Given the description of an element on the screen output the (x, y) to click on. 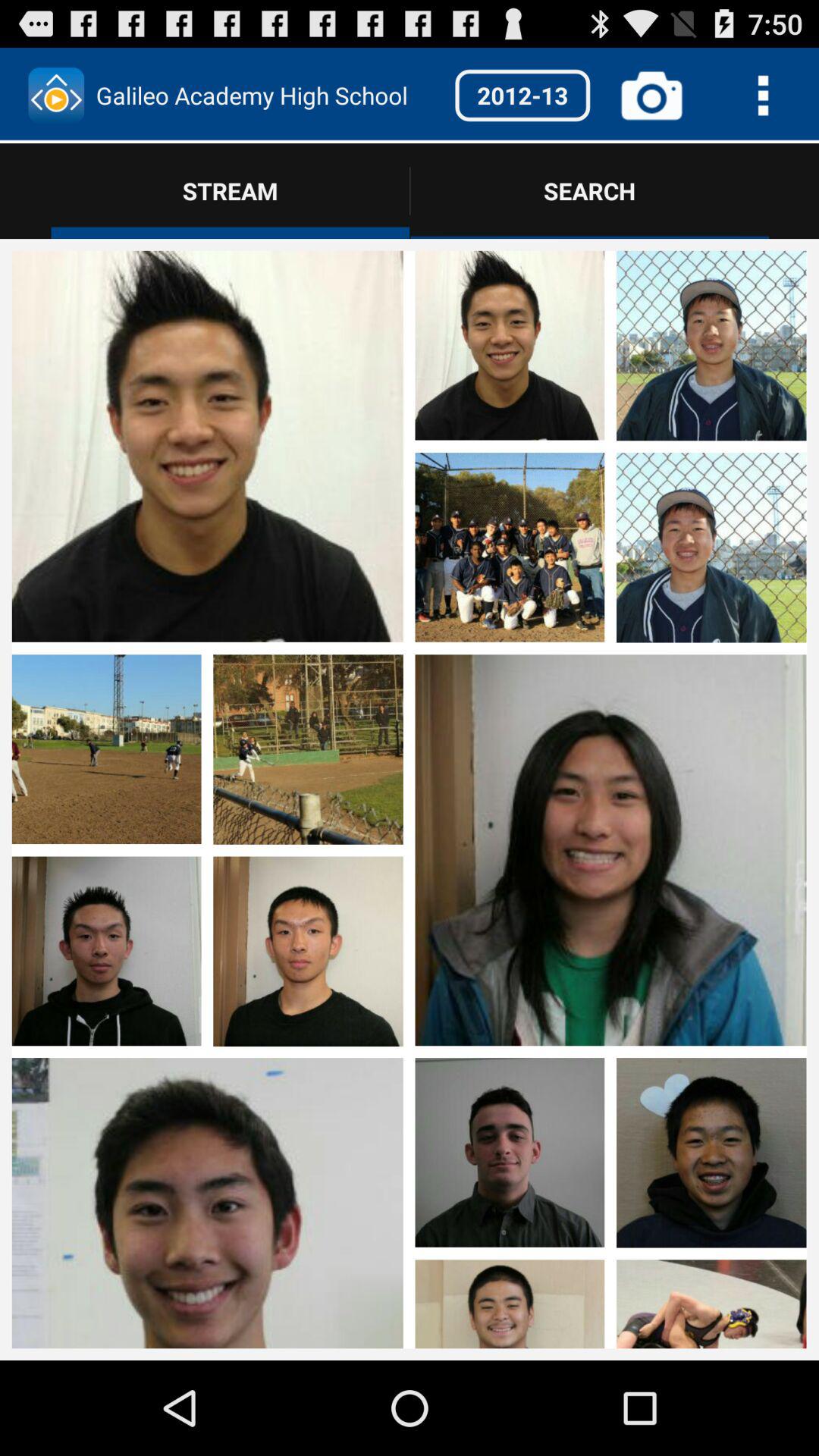
photos page (610, 1199)
